Given the description of an element on the screen output the (x, y) to click on. 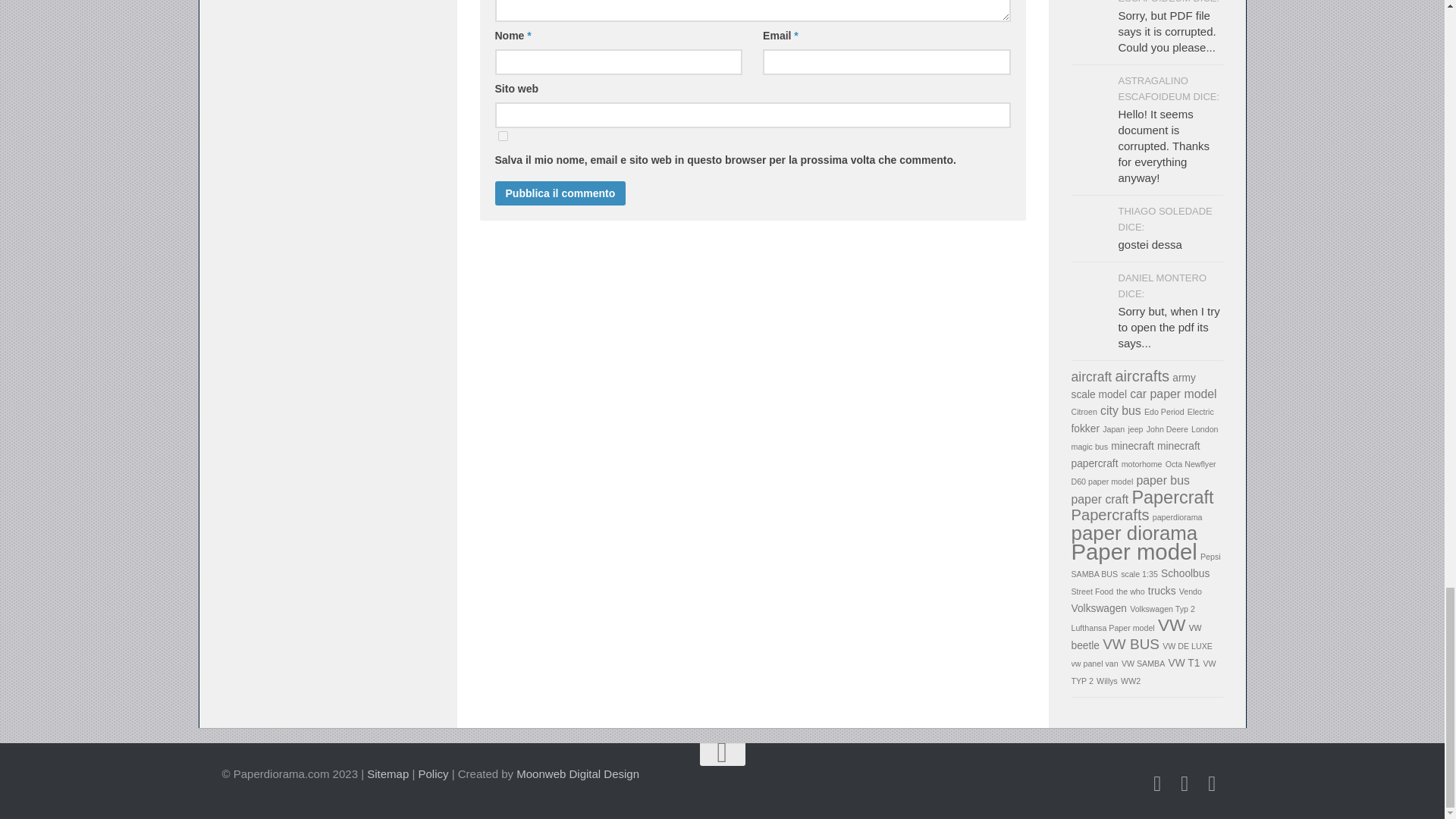
Pubblica il commento (560, 192)
yes (501, 135)
Pubblica il commento (560, 192)
